Given the description of an element on the screen output the (x, y) to click on. 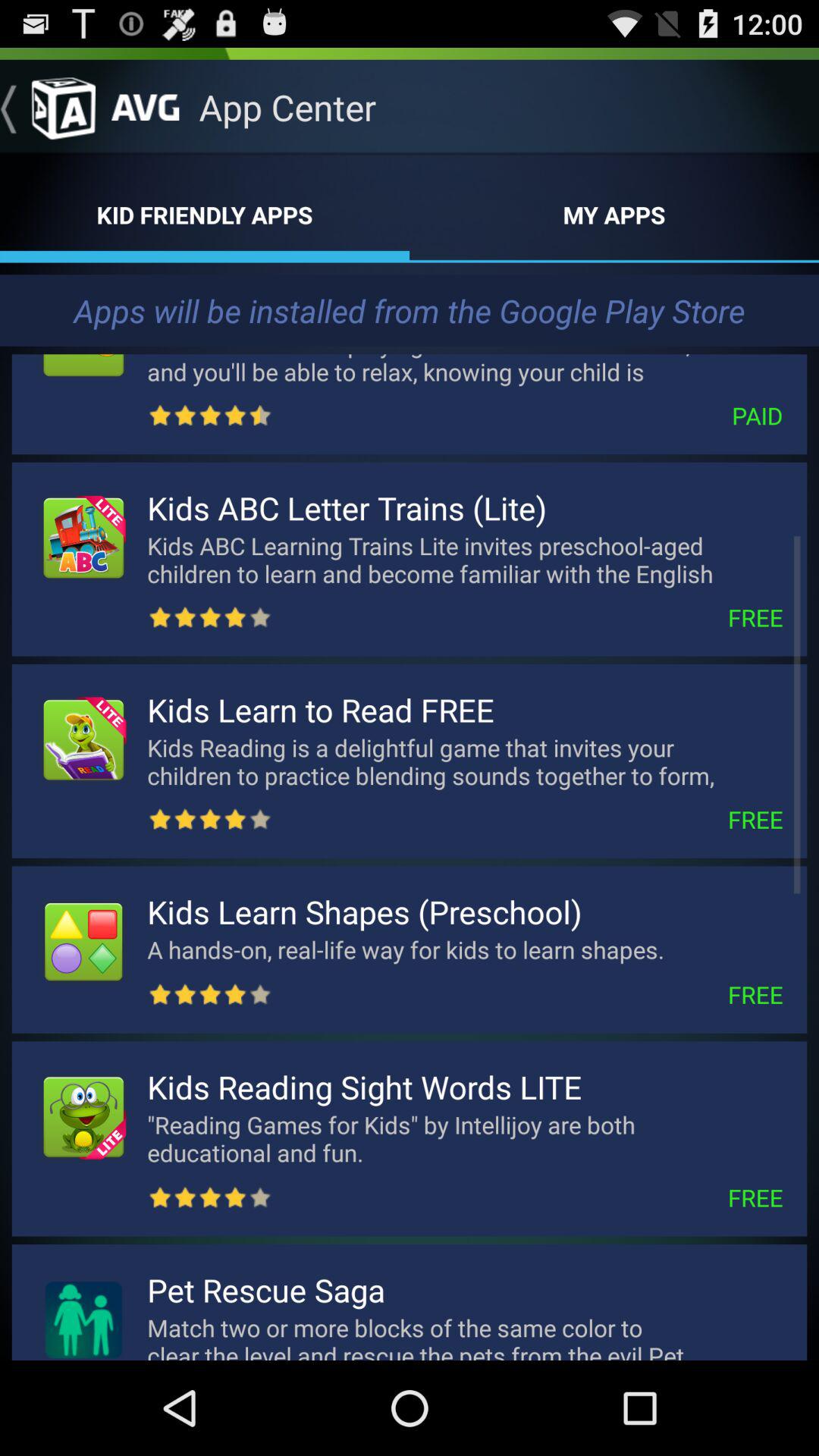
open the a hands on app (437, 949)
